Given the description of an element on the screen output the (x, y) to click on. 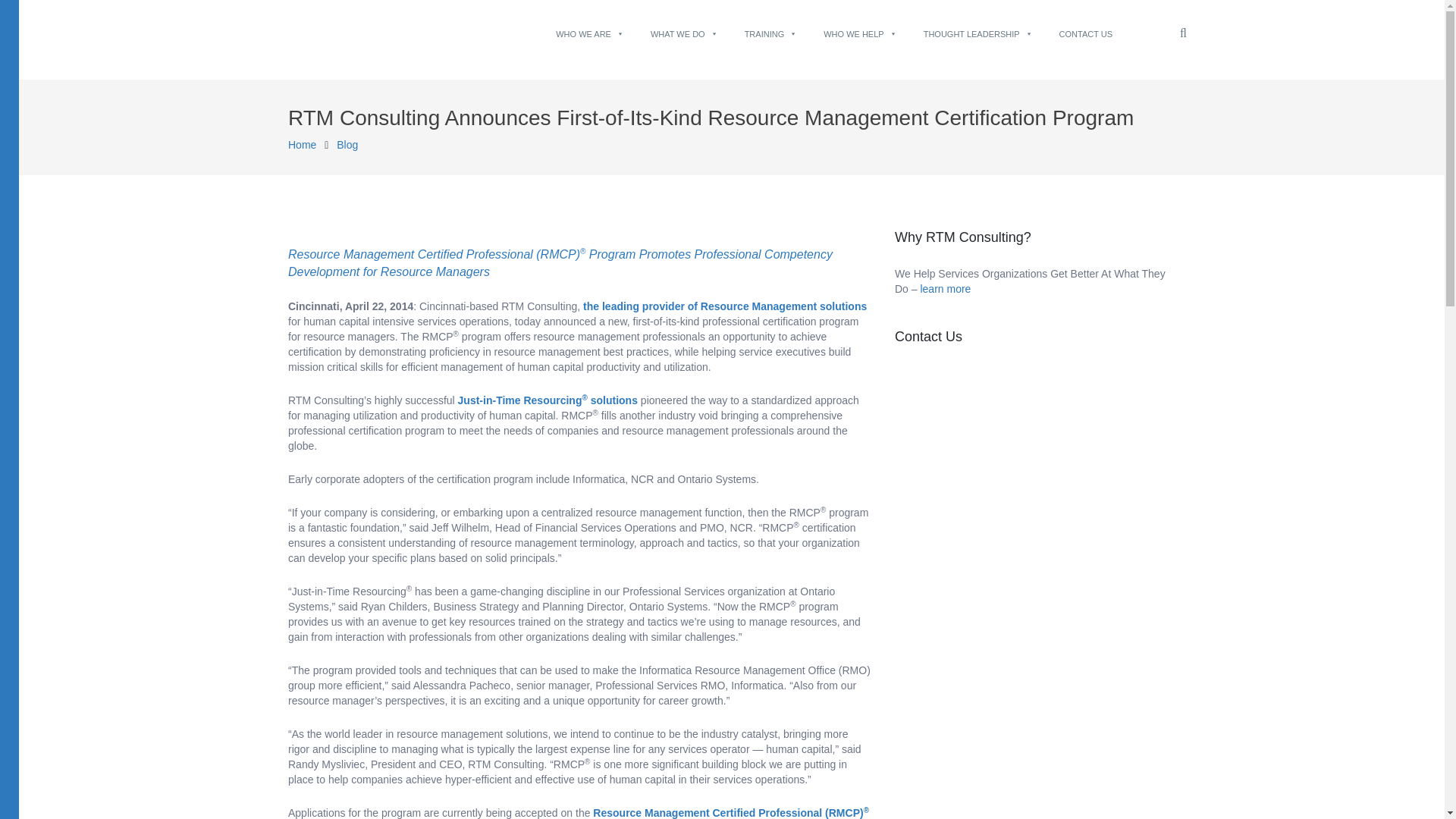
Blog (347, 143)
WHO WE HELP (860, 26)
RTM Consulting (301, 143)
WHAT WE DO (683, 26)
TRAINING (770, 26)
WHO WE ARE (590, 26)
THOUGHT LEADERSHIP (977, 26)
